Given the description of an element on the screen output the (x, y) to click on. 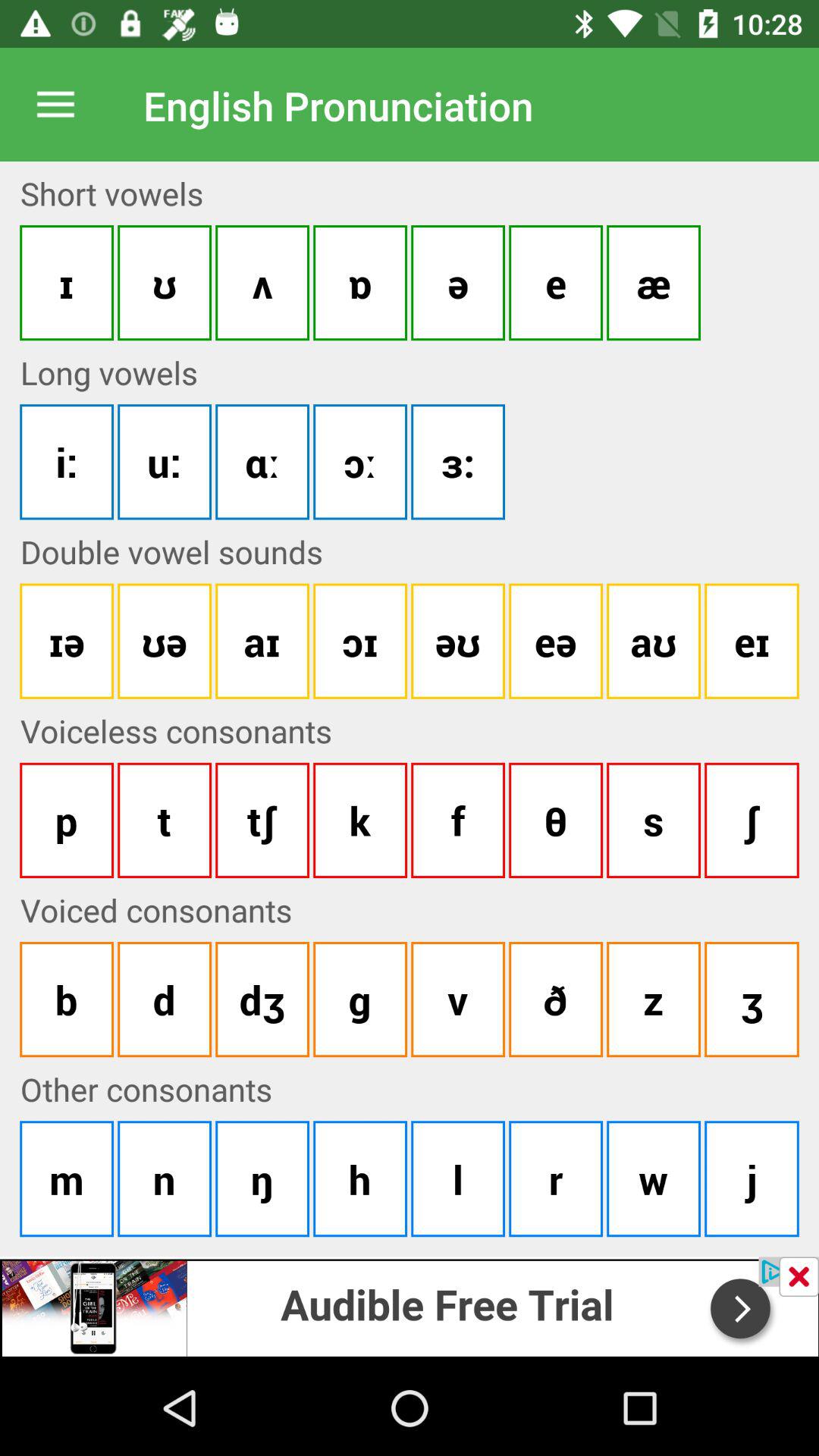
click audible advertisement (409, 1306)
